Given the description of an element on the screen output the (x, y) to click on. 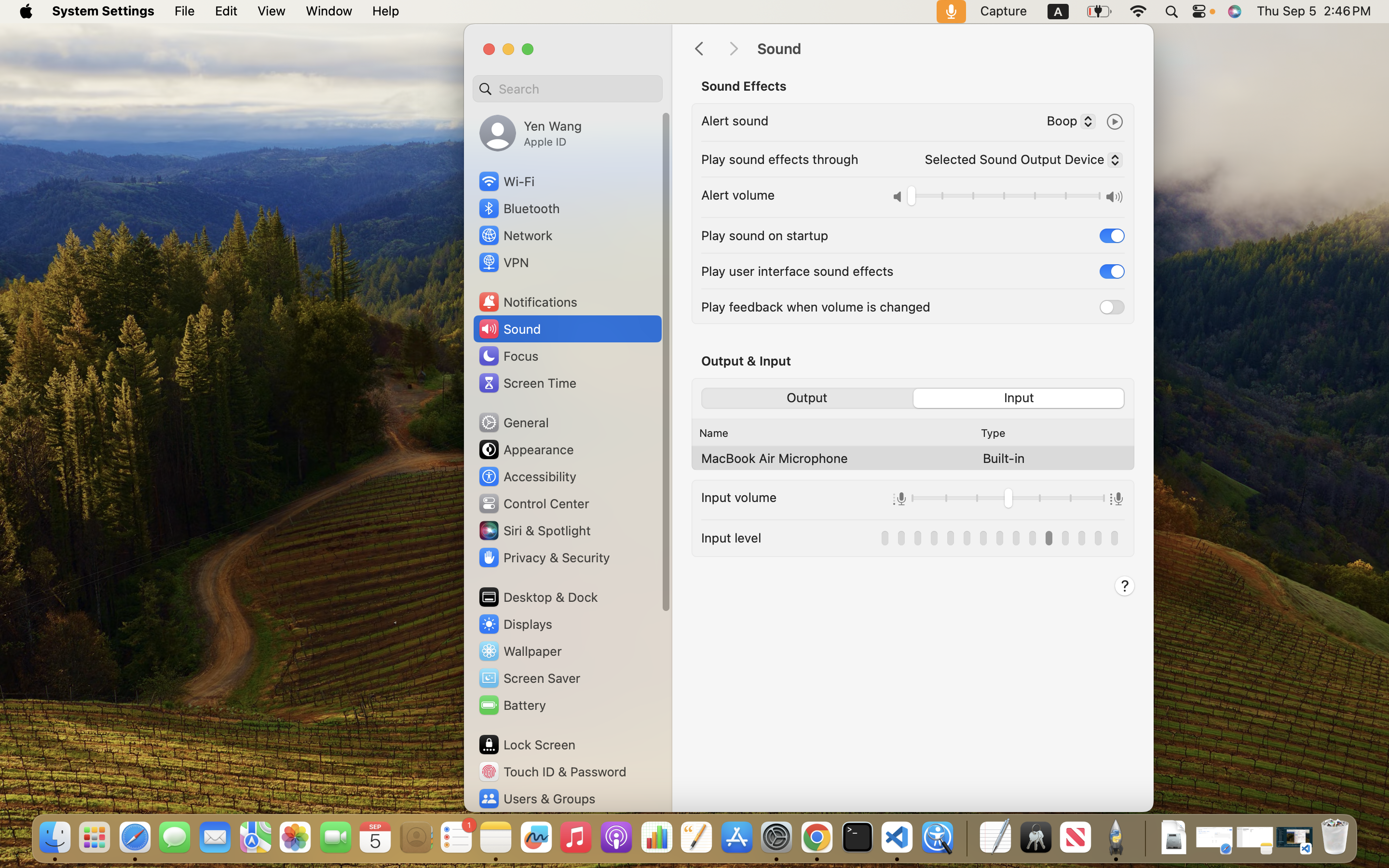
1 Element type: AXRadioButton (1019, 397)
Battery Element type: AXStaticText (511, 704)
Siri & Spotlight Element type: AXStaticText (533, 530)
Alert volume Element type: AXStaticText (737, 194)
Built-in Element type: AXStaticText (1003, 457)
